Given the description of an element on the screen output the (x, y) to click on. 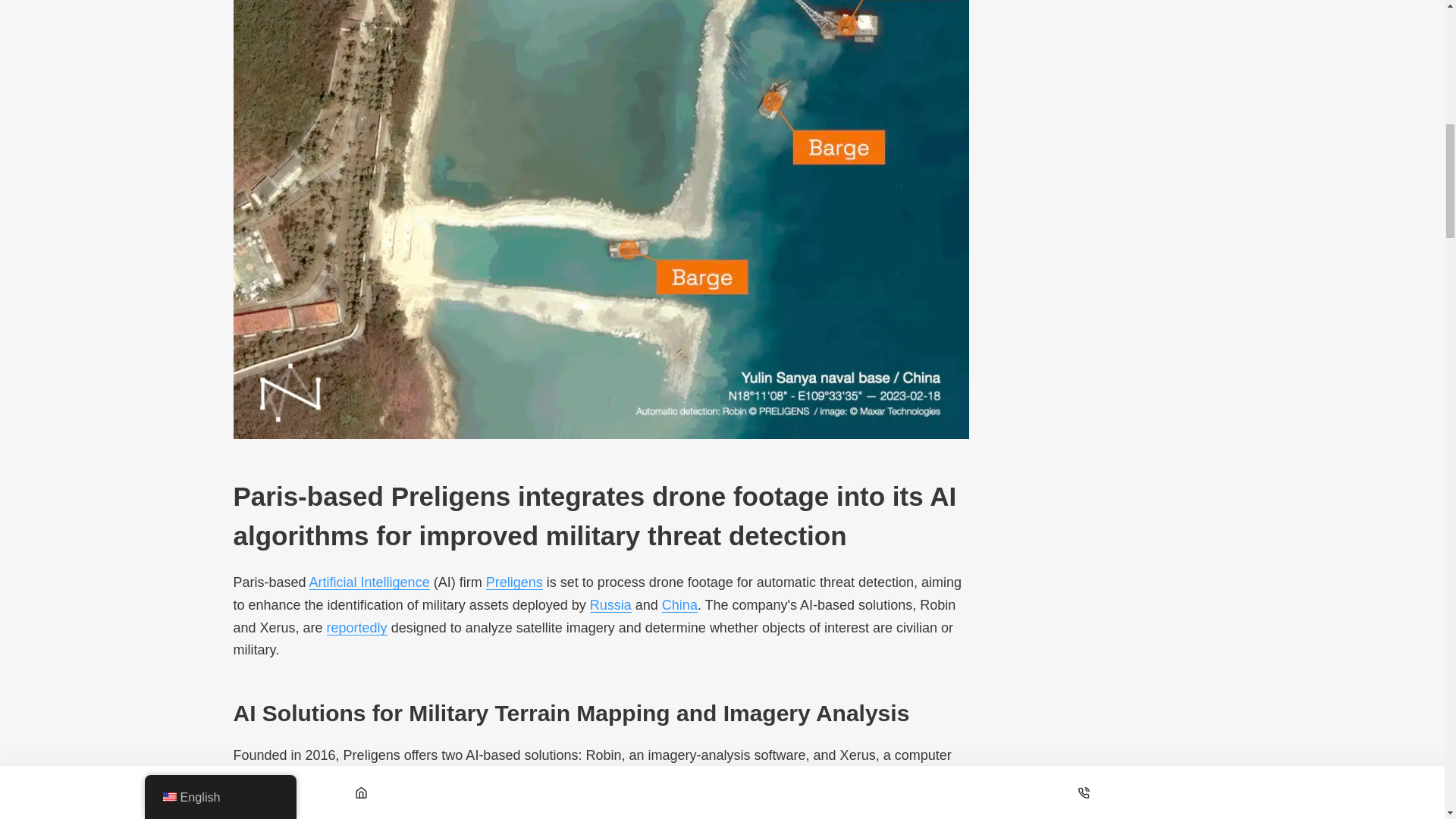
Posts in the category China (679, 604)
Posts in the category Artificial Intelligence (368, 581)
Posts in the category Russia (610, 604)
